Given the description of an element on the screen output the (x, y) to click on. 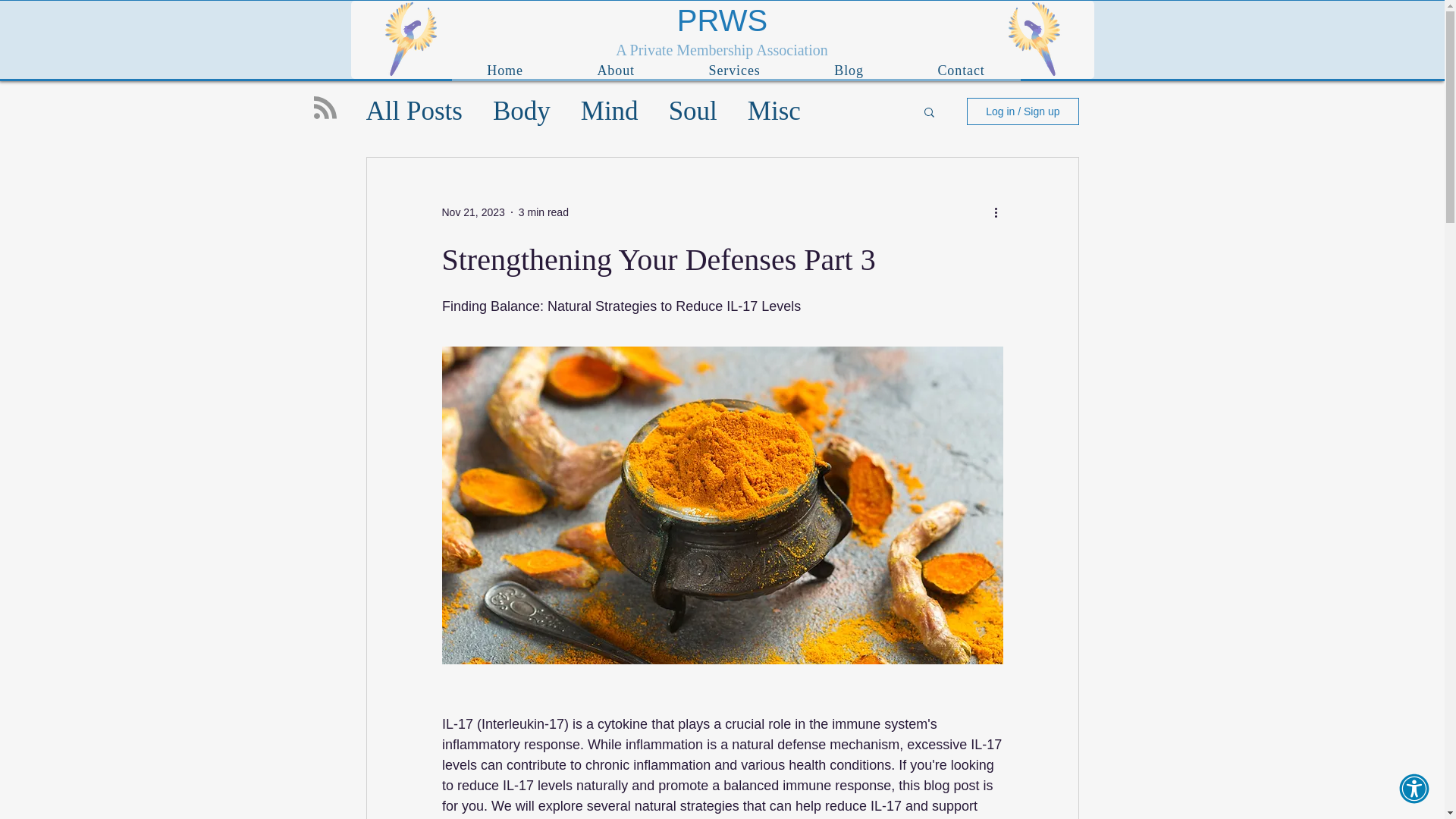
All Posts (413, 111)
Contact (961, 70)
Nov 21, 2023 (472, 212)
Mind (609, 111)
Services (734, 70)
About (615, 70)
Blog (847, 70)
Soul (692, 111)
Home (505, 70)
Misc (774, 111)
